Given the description of an element on the screen output the (x, y) to click on. 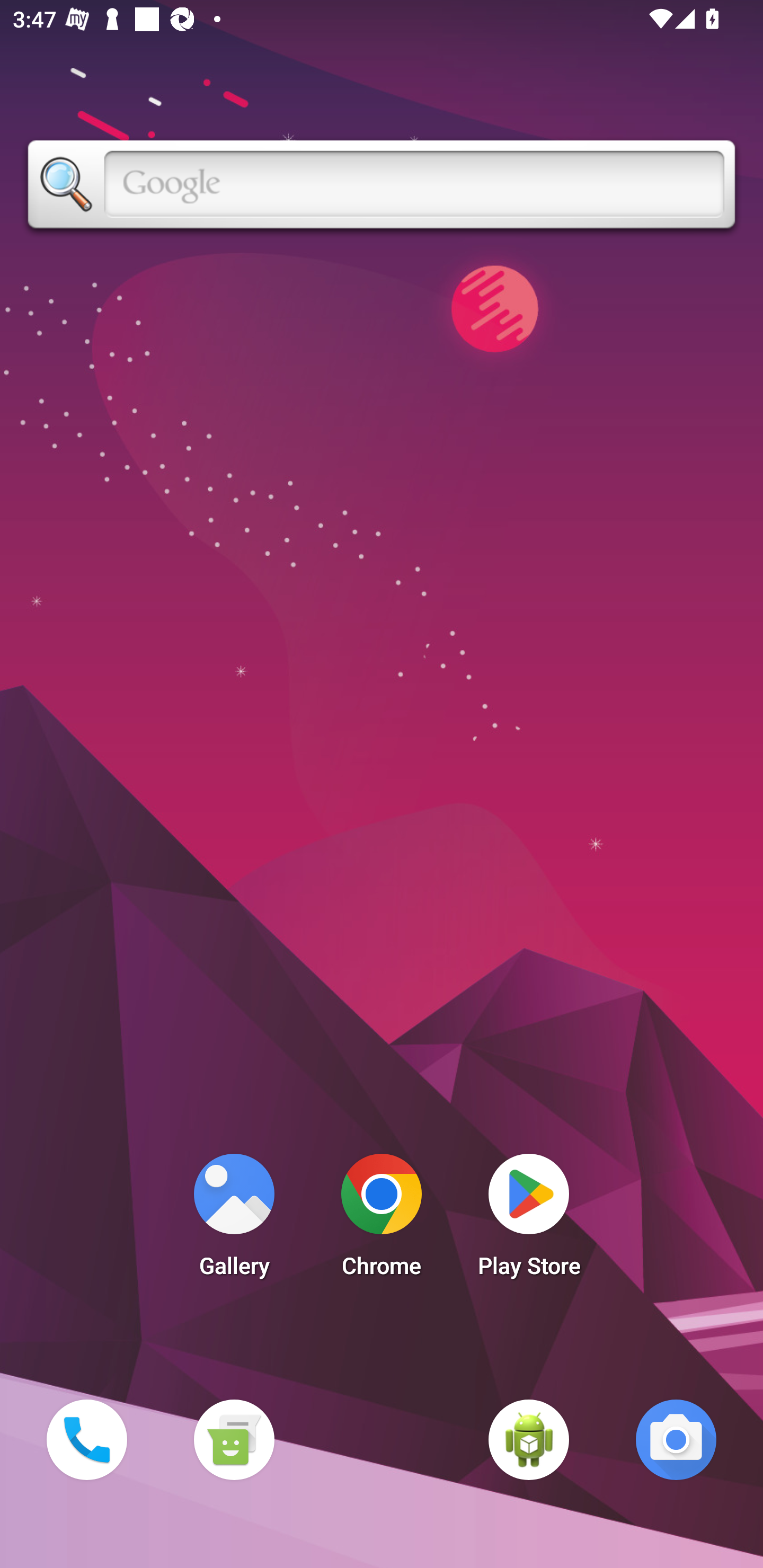
Gallery (233, 1220)
Chrome (381, 1220)
Play Store (528, 1220)
Phone (86, 1439)
Messaging (233, 1439)
WebView Browser Tester (528, 1439)
Camera (676, 1439)
